Given the description of an element on the screen output the (x, y) to click on. 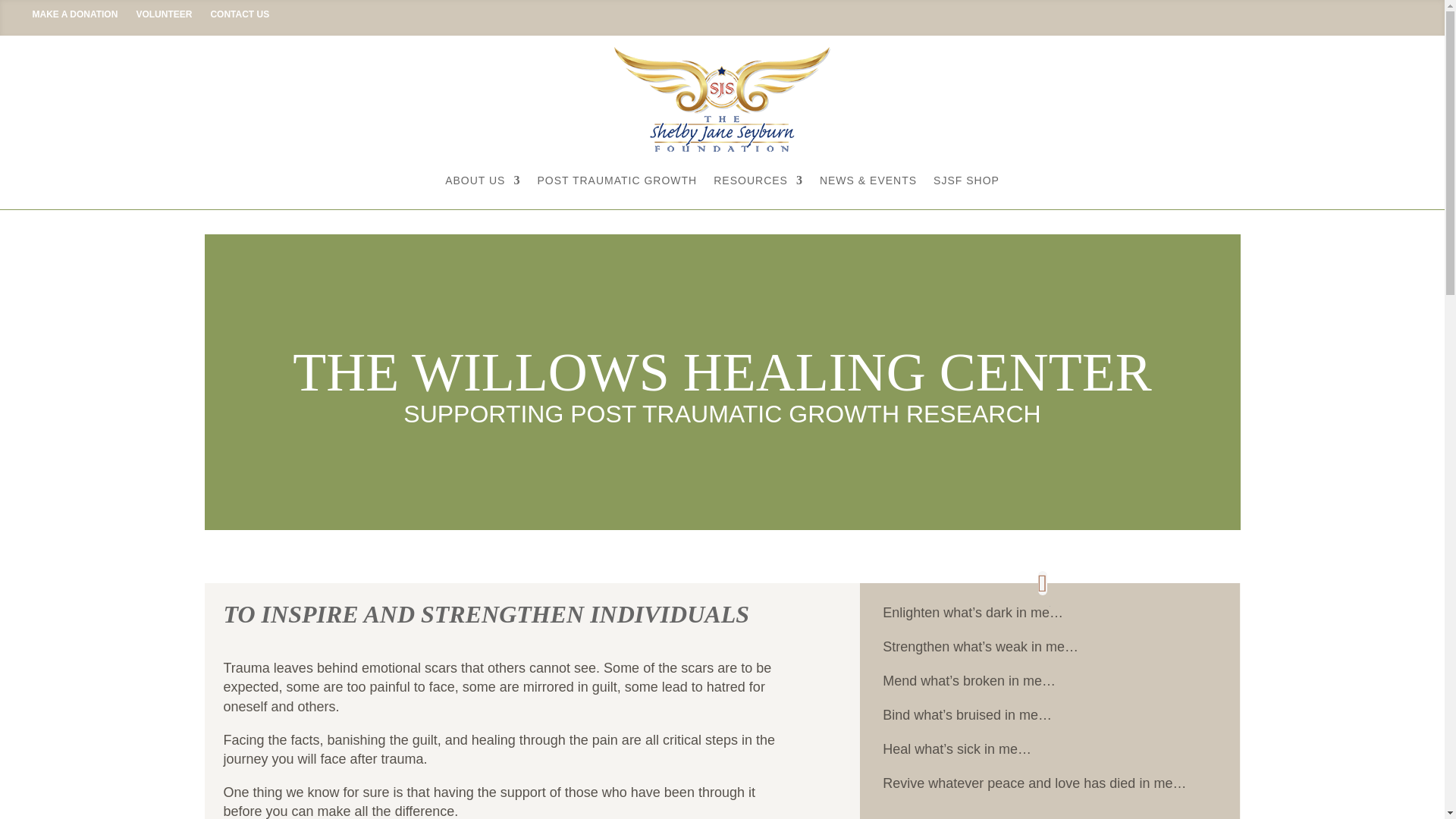
VOLUNTEER (163, 14)
Facebook (1275, 14)
CONTACT US (239, 14)
Instagram (1311, 14)
MAKE A DONATION (74, 14)
Twitter (1293, 14)
